Given the description of an element on the screen output the (x, y) to click on. 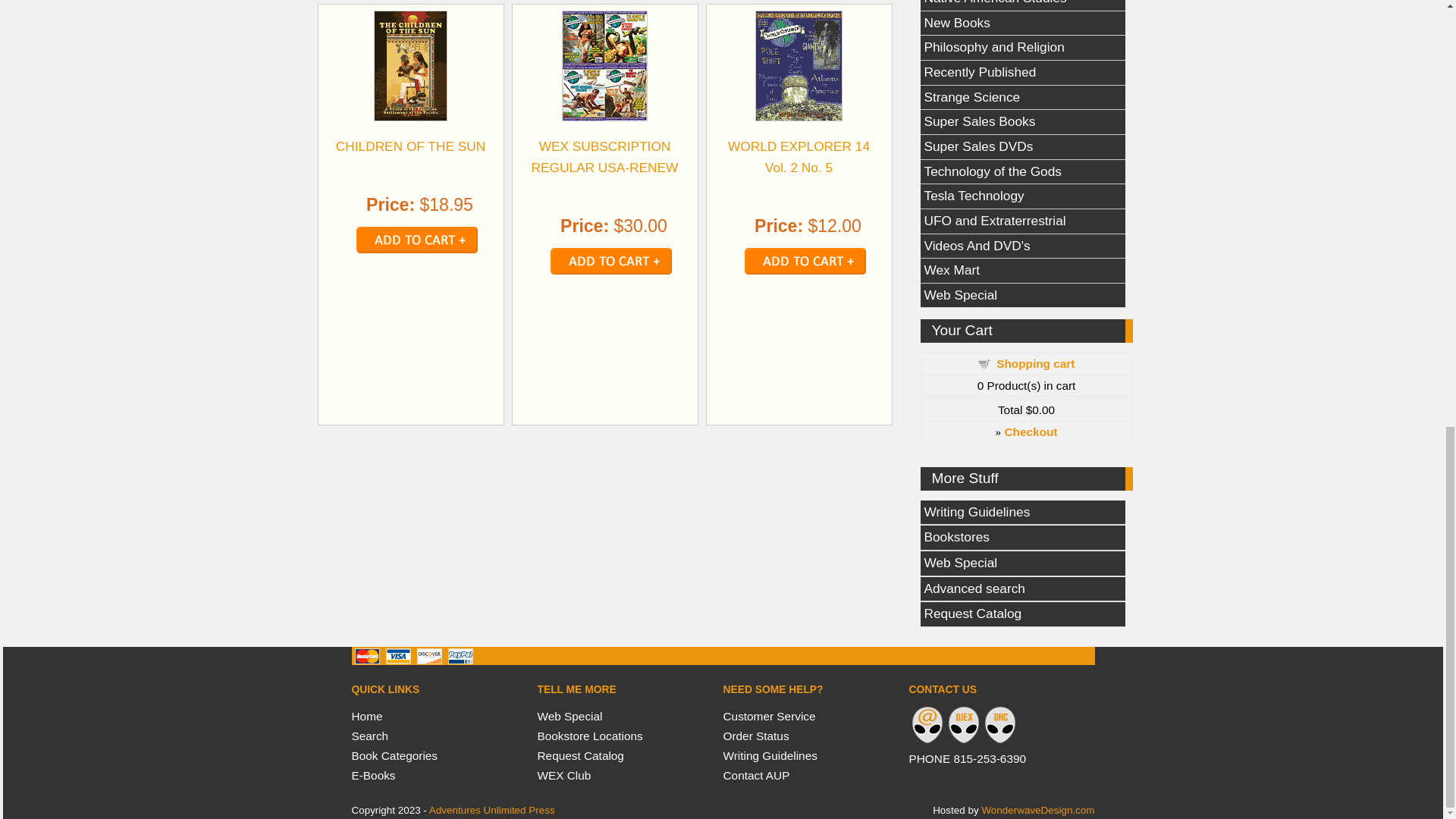
New Books (1022, 23)
Native American Studies (1022, 5)
